Given the description of an element on the screen output the (x, y) to click on. 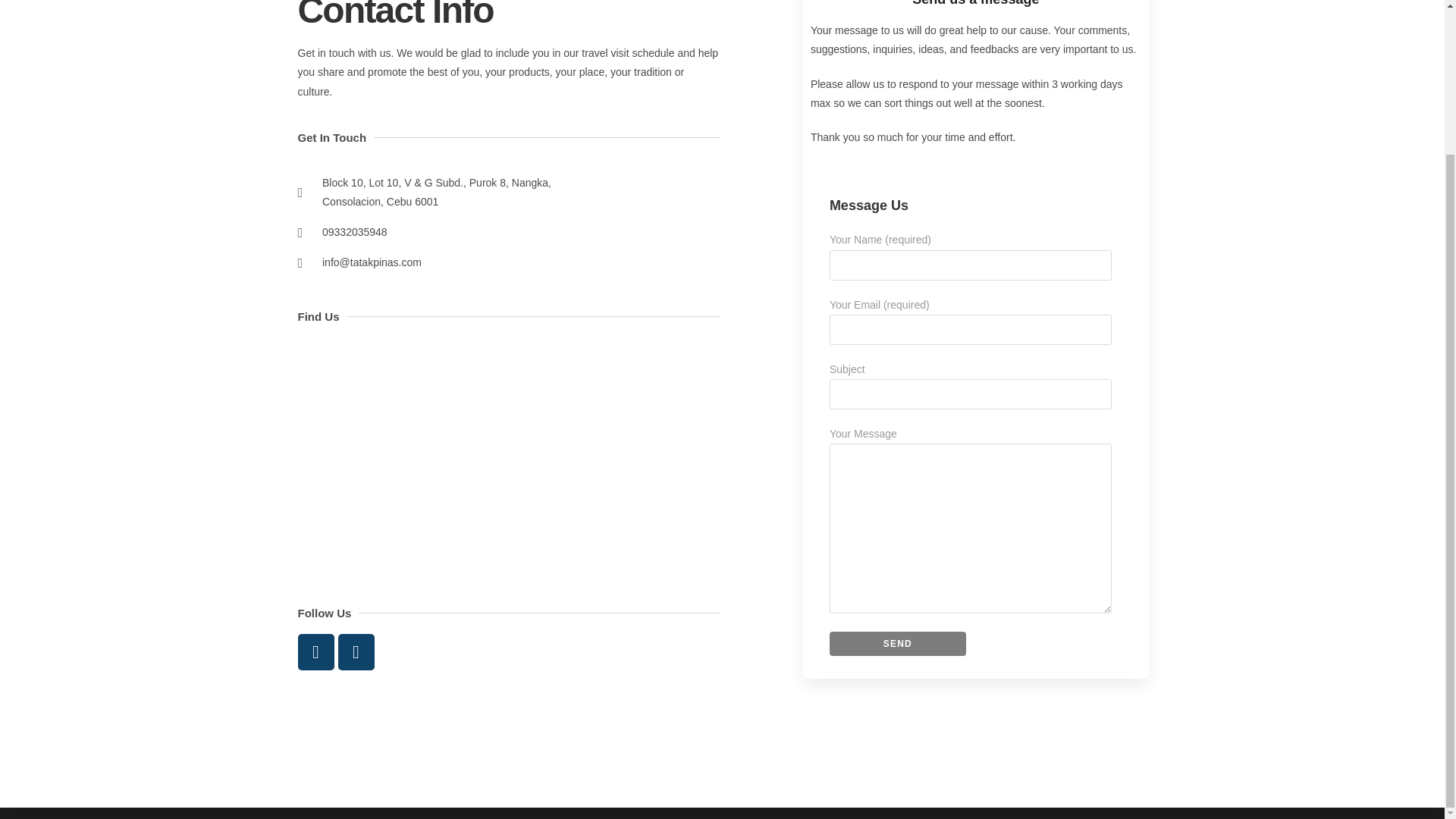
Send (897, 643)
Cebu (508, 453)
Send (897, 643)
